Given the description of an element on the screen output the (x, y) to click on. 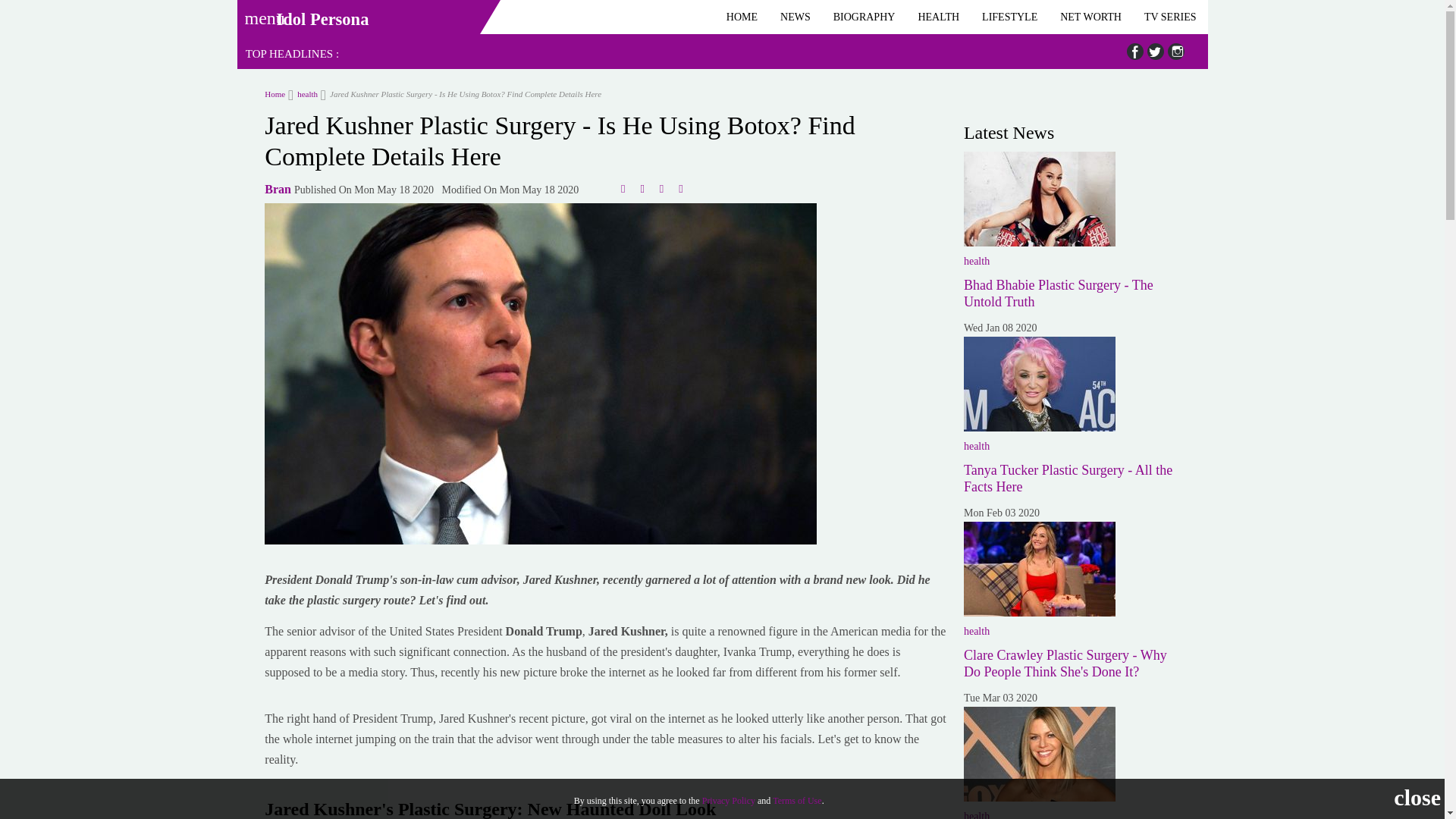
Terms of Use (797, 800)
Tanya Tucker Plastic Surgery - All the Facts Here (1039, 383)
Bhad Bhabie Plastic Surgery - The Untold Truth (1058, 293)
TV SERIES (1170, 17)
Tanya Tucker Plastic Surgery - All the Facts Here (1067, 478)
HOME (741, 17)
HEALTH (938, 17)
NET WORTH (1090, 17)
What's Up with Kaitlin Olson's Plastic Surgery Discussions? (1039, 753)
health (302, 93)
